Given the description of an element on the screen output the (x, y) to click on. 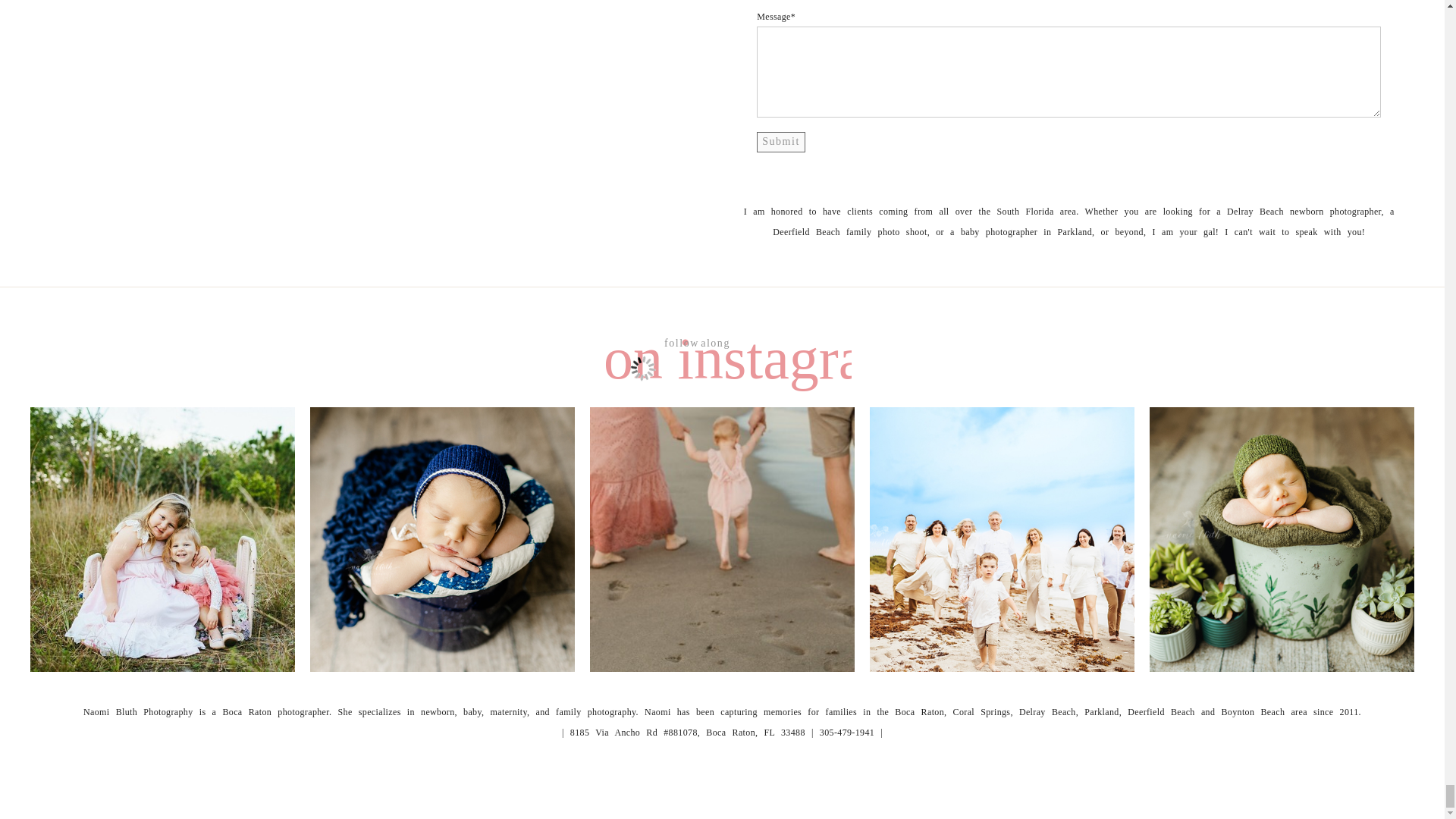
ProPhoto Site (807, 802)
Submit (781, 141)
